Given the description of an element on the screen output the (x, y) to click on. 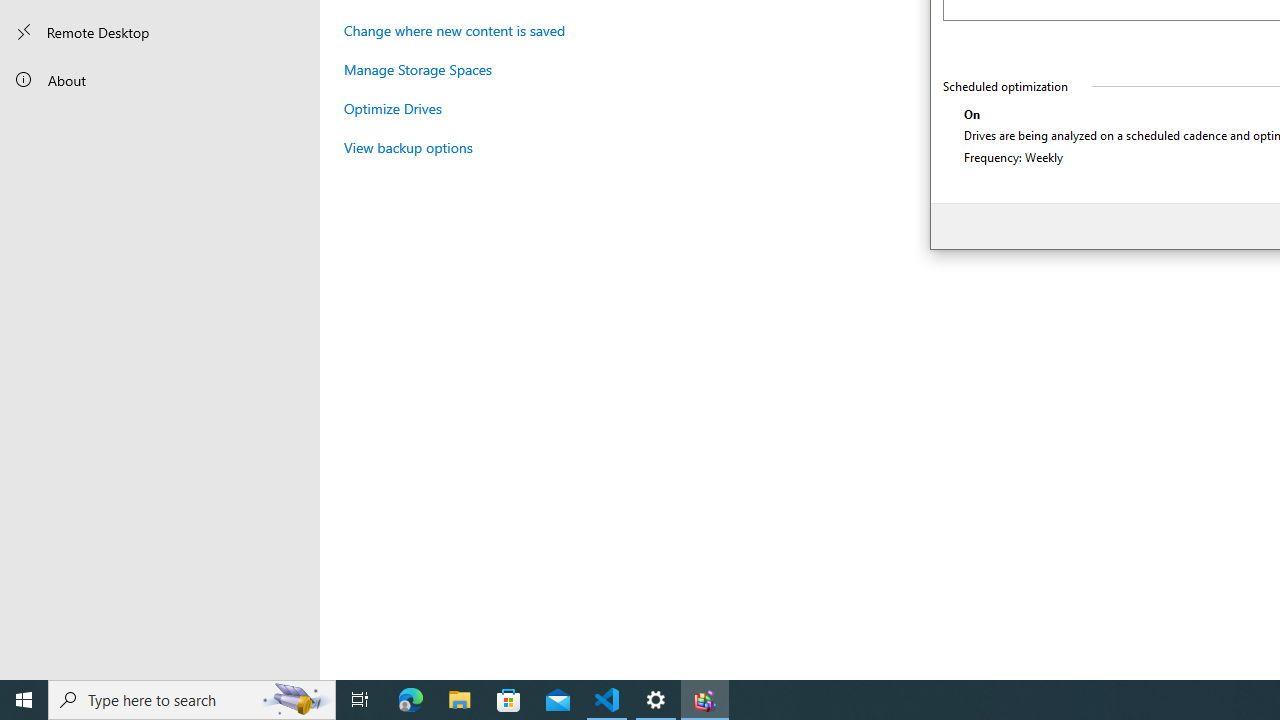
Task View (359, 699)
Microsoft Store (509, 699)
Settings - 1 running window (656, 699)
Microsoft Edge (411, 699)
Defragment and Optimize Drives - 1 running window (704, 699)
File Explorer (460, 699)
Start (24, 699)
Visual Studio Code - 1 running window (607, 699)
Search highlights icon opens search home window (295, 699)
Type here to search (191, 699)
